Given the description of an element on the screen output the (x, y) to click on. 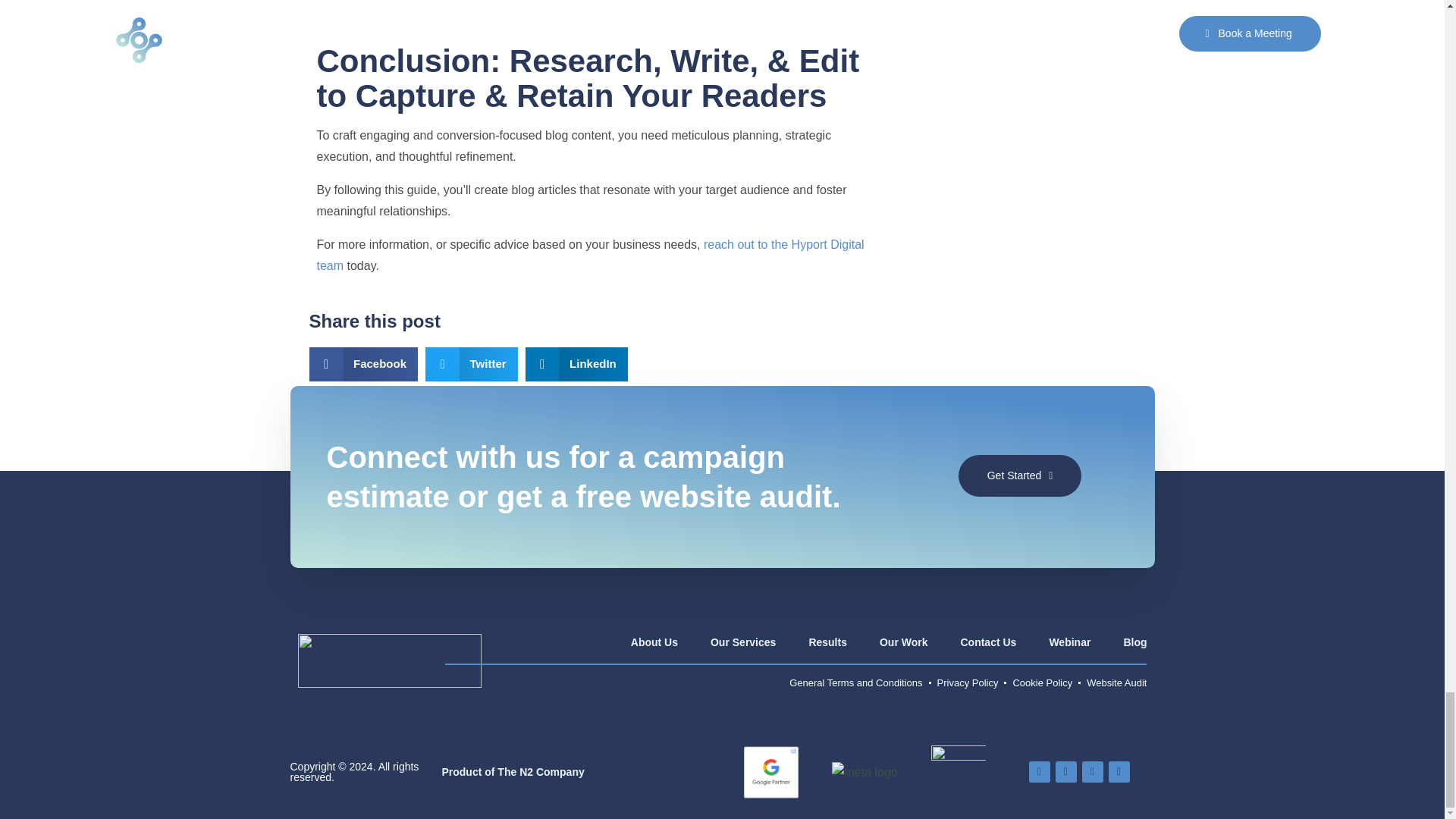
Share this post (591, 321)
Get Started (591, 364)
Product of The N2 Company (1019, 476)
Meta (527, 771)
